Given the description of an element on the screen output the (x, y) to click on. 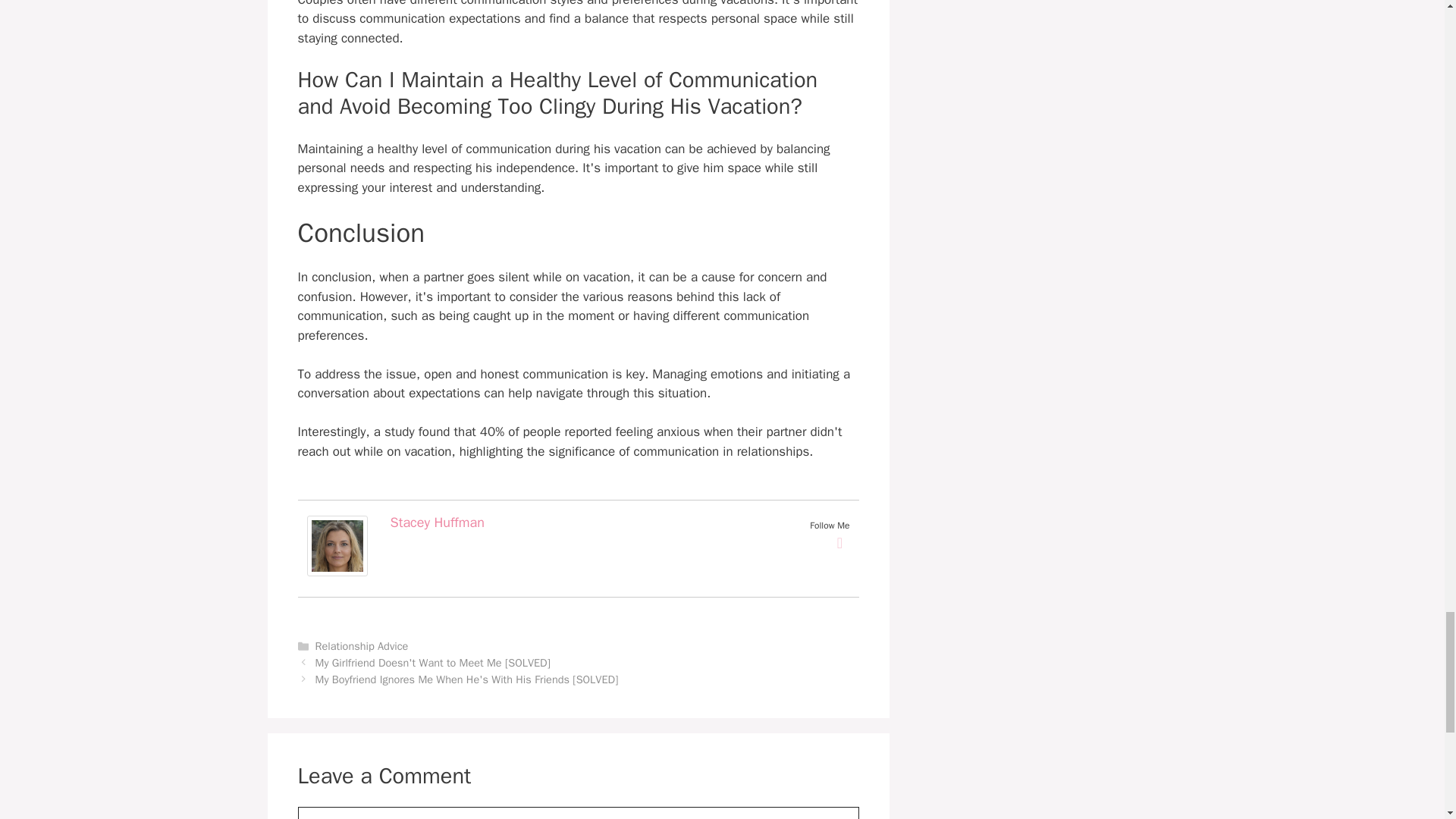
Stacey Huffman (335, 571)
Relationship Advice (362, 645)
Stacey Huffman (436, 522)
Twitter (839, 542)
